Given the description of an element on the screen output the (x, y) to click on. 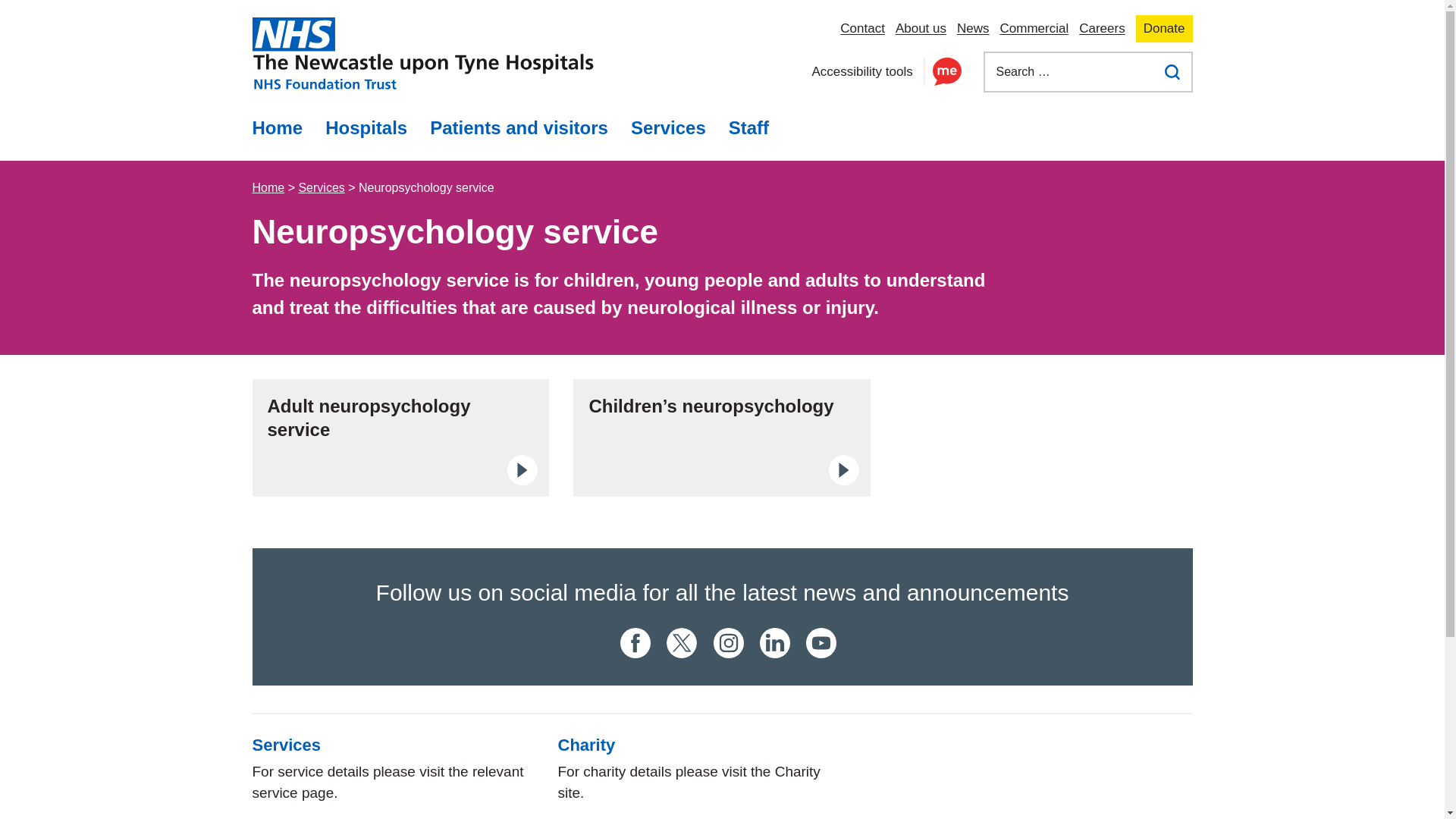
Services (668, 127)
About us (920, 28)
Accessibility tools (886, 71)
Careers (1101, 28)
Newcastle Hospitals NHS Foundation Trust Homepage (421, 53)
Patients and visitors (518, 127)
News (973, 28)
Go to Newcastle Hospitals NHS Foundation Trust. (267, 186)
Search (1172, 71)
Search (1172, 71)
